Given the description of an element on the screen output the (x, y) to click on. 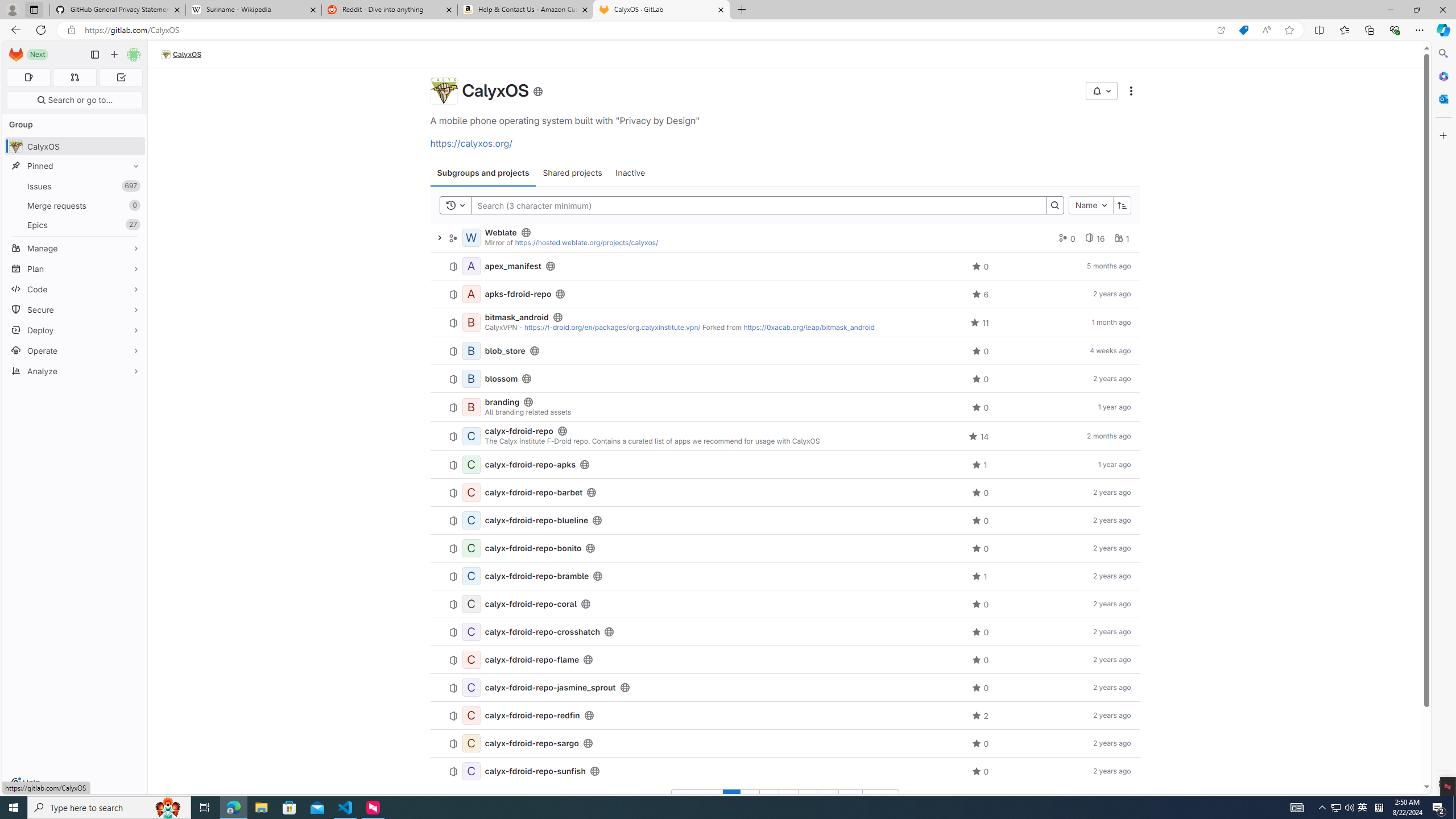
Go to page 5 (807, 799)
Next (37, 54)
Issues 697 (74, 185)
Weblate (500, 232)
avatar (15, 146)
Next (880, 799)
Ccalyx-fdroid-repo-apks11 year ago (784, 465)
Go to page 3 (768, 799)
bitmask_android (516, 316)
